Given the description of an element on the screen output the (x, y) to click on. 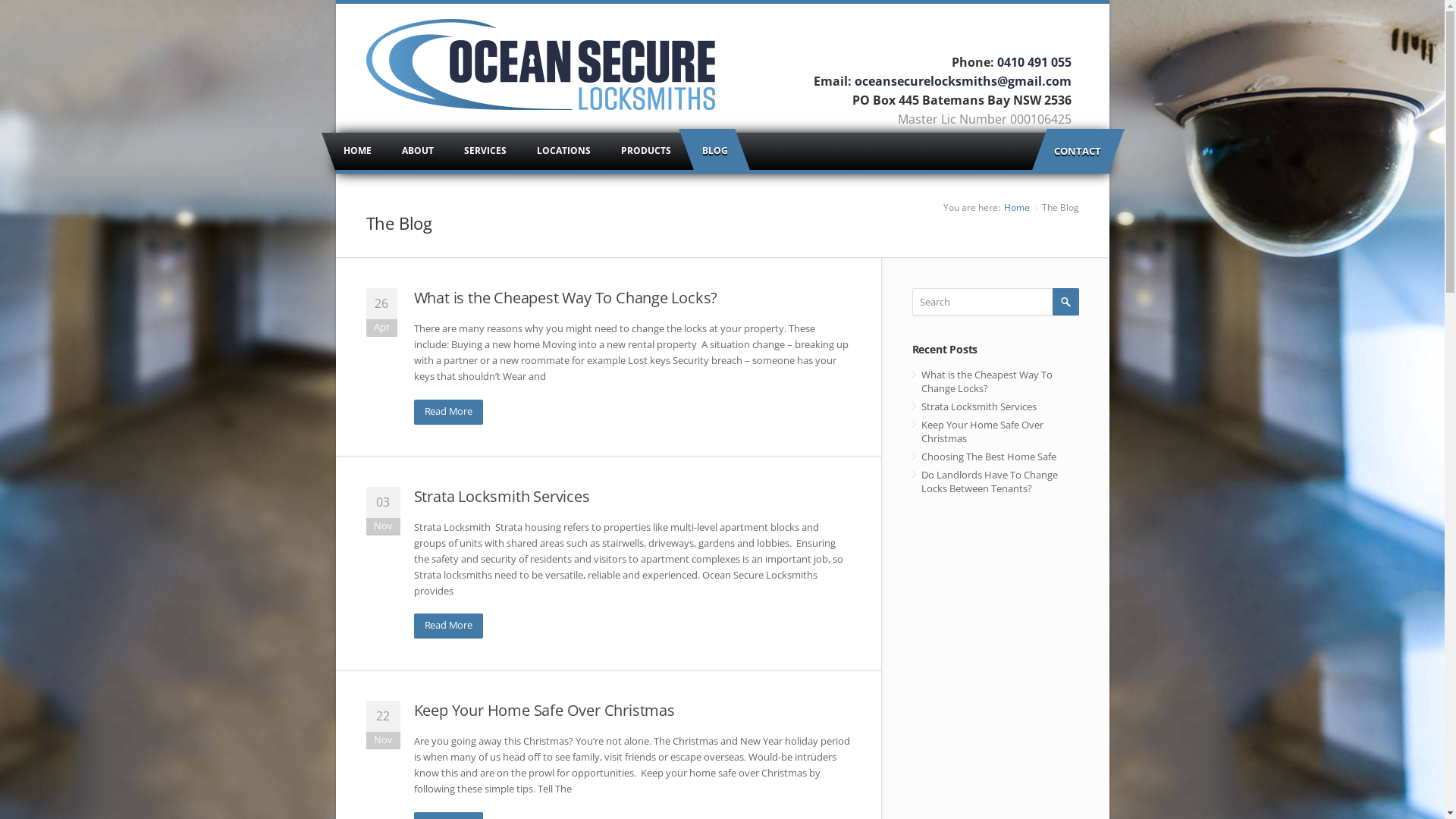
What is the Cheapest Way To Change Locks? Element type: text (994, 381)
Keep Your Home Safe Over Christmas Element type: text (544, 709)
SERVICES Element type: text (484, 150)
LOCATIONS Element type: text (563, 150)
Strata Locksmith Services Element type: text (994, 406)
What is the Cheapest Way To Change Locks? Element type: text (566, 297)
0410 491 055 Element type: text (1033, 61)
oceansecurelocksmiths@gmail.com Element type: text (961, 80)
PRODUCTS Element type: text (645, 150)
HOME Element type: text (356, 150)
Read More Element type: text (448, 625)
ABOUT Element type: text (417, 150)
BLOG Element type: text (714, 150)
Do Landlords Have To Change Locks Between Tenants? Element type: text (994, 481)
Strata Locksmith Services Element type: text (501, 495)
CONTACT Element type: text (1077, 150)
Read More Element type: text (448, 410)
Keep Your Home Safe Over Christmas Element type: text (994, 431)
Choosing The Best Home Safe Element type: text (994, 456)
Home Element type: text (1016, 206)
